Given the description of an element on the screen output the (x, y) to click on. 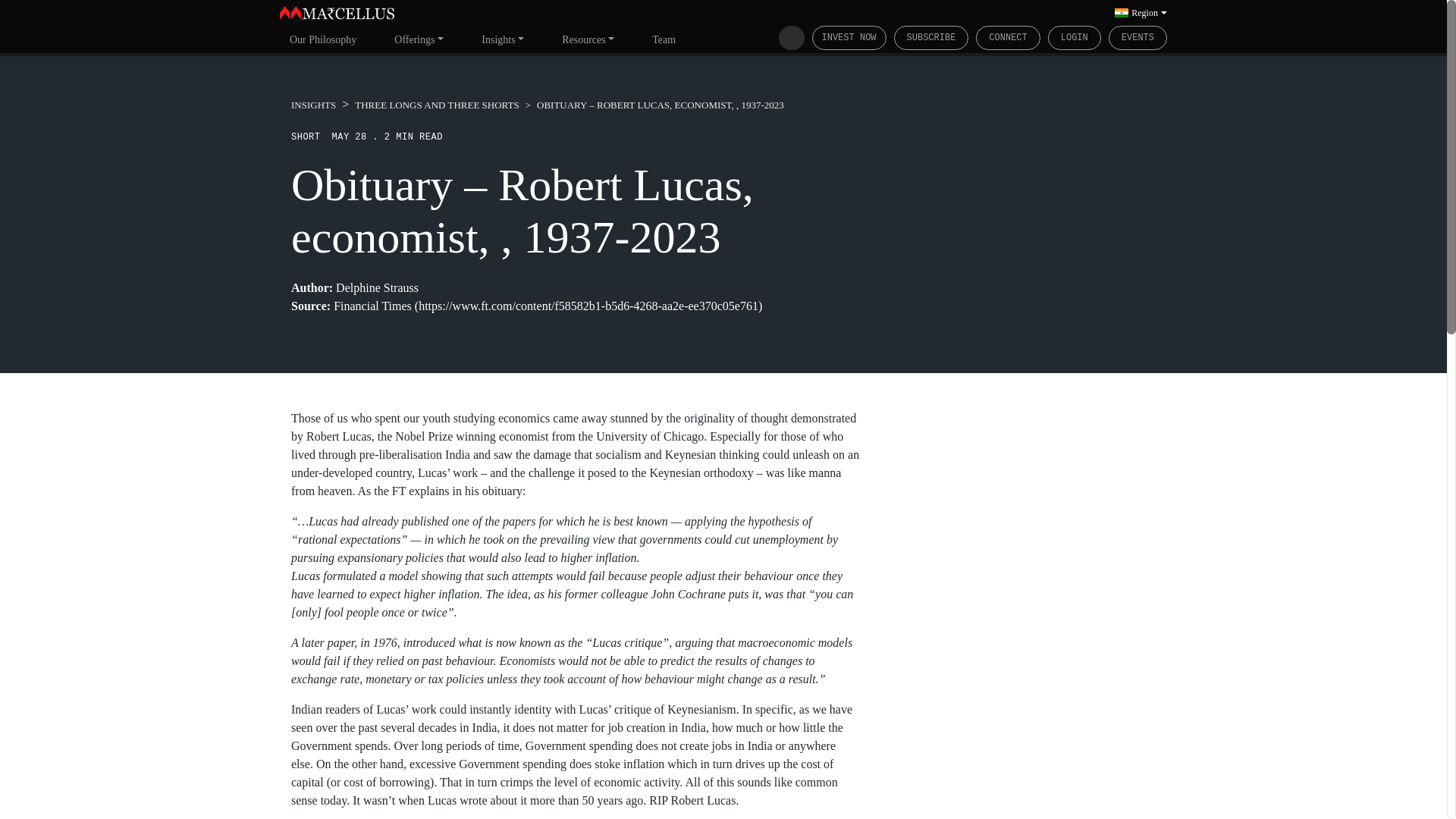
Region (1141, 12)
Our Philosophy (322, 38)
Insights (502, 38)
Offerings (418, 38)
